Given the description of an element on the screen output the (x, y) to click on. 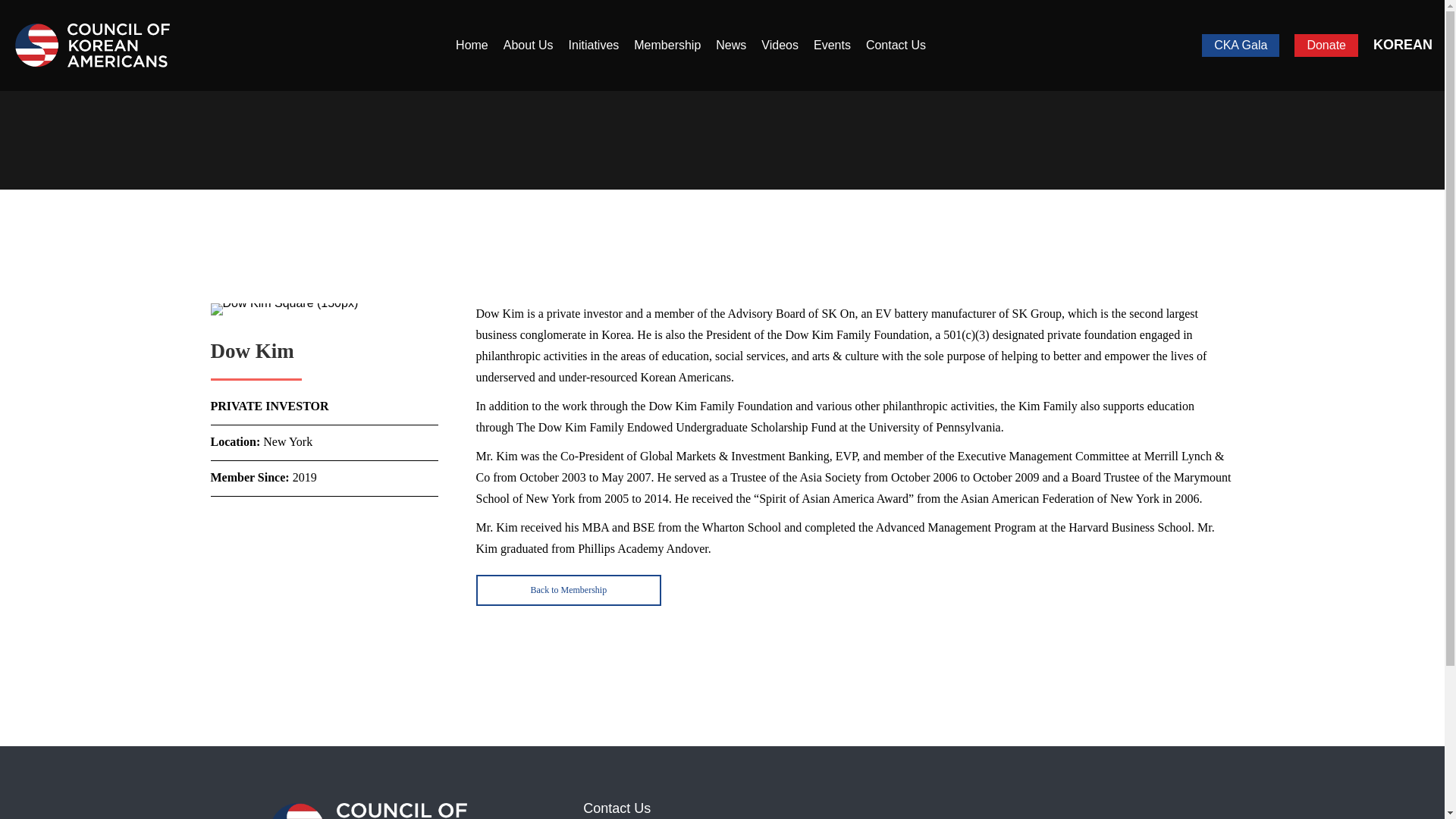
KOREAN (1402, 44)
Donate (1326, 45)
CKA Gala (1240, 45)
Paul Kim (569, 590)
